Given the description of an element on the screen output the (x, y) to click on. 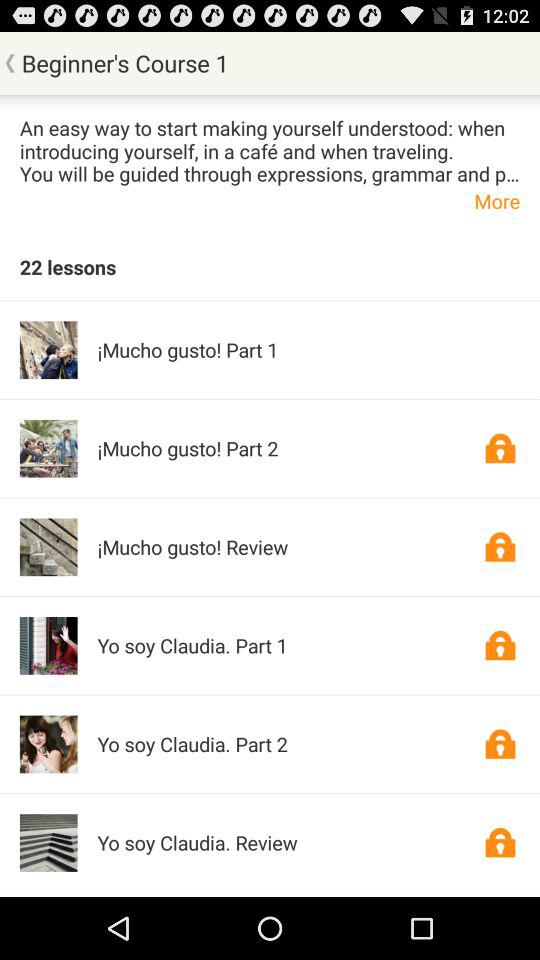
scroll until 22 lessons item (67, 266)
